Given the description of an element on the screen output the (x, y) to click on. 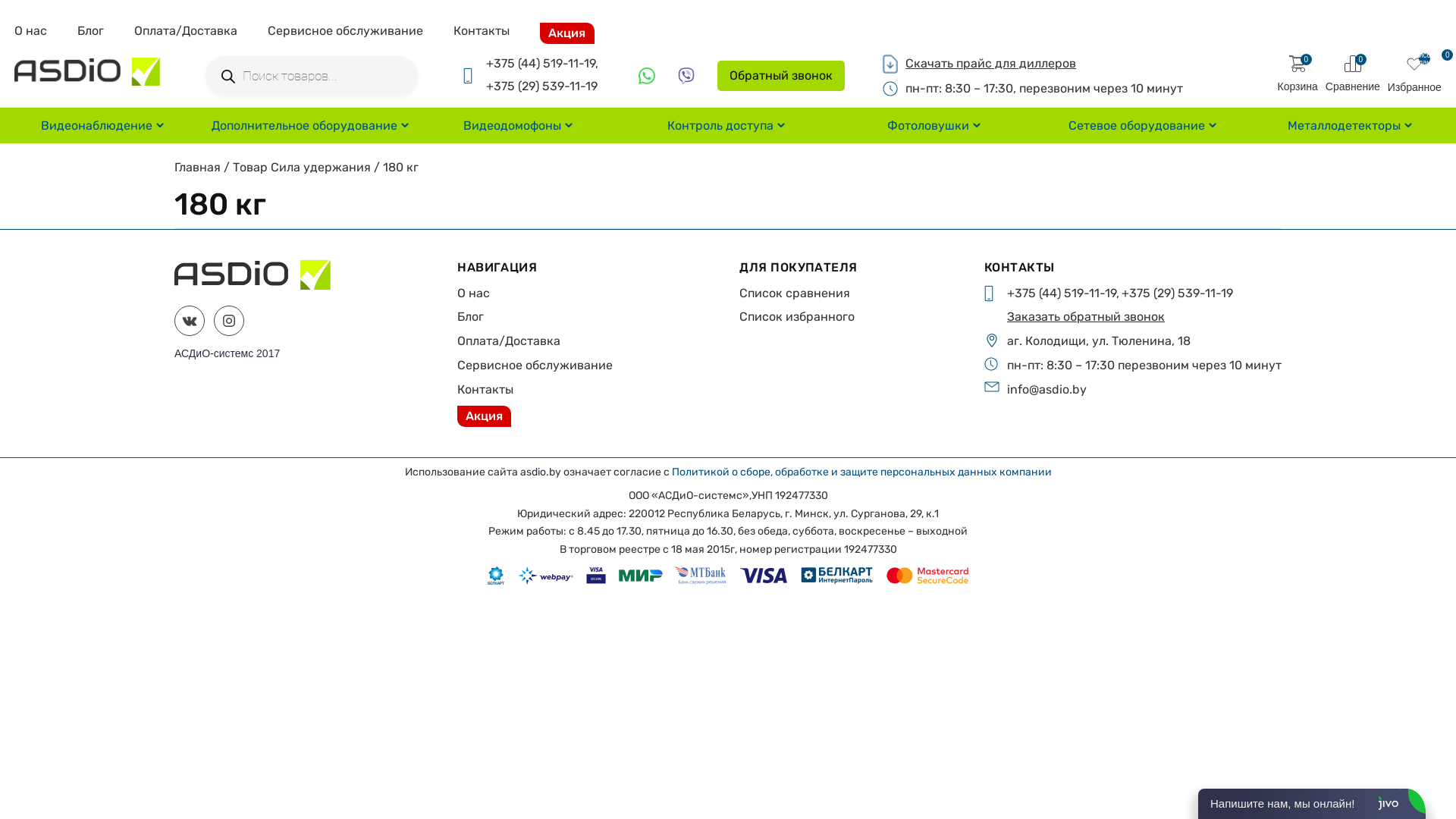
+375 (44) 519-11-19, Element type: text (542, 63)
+375 (44) 519-11-19, Element type: text (1063, 292)
info@asdio.by Element type: text (1046, 389)
+375 (29) 539-11-19 Element type: text (541, 85)
asdio.by Element type: text (540, 471)
+375 (29) 539-11-19 Element type: text (1177, 292)
